Given the description of an element on the screen output the (x, y) to click on. 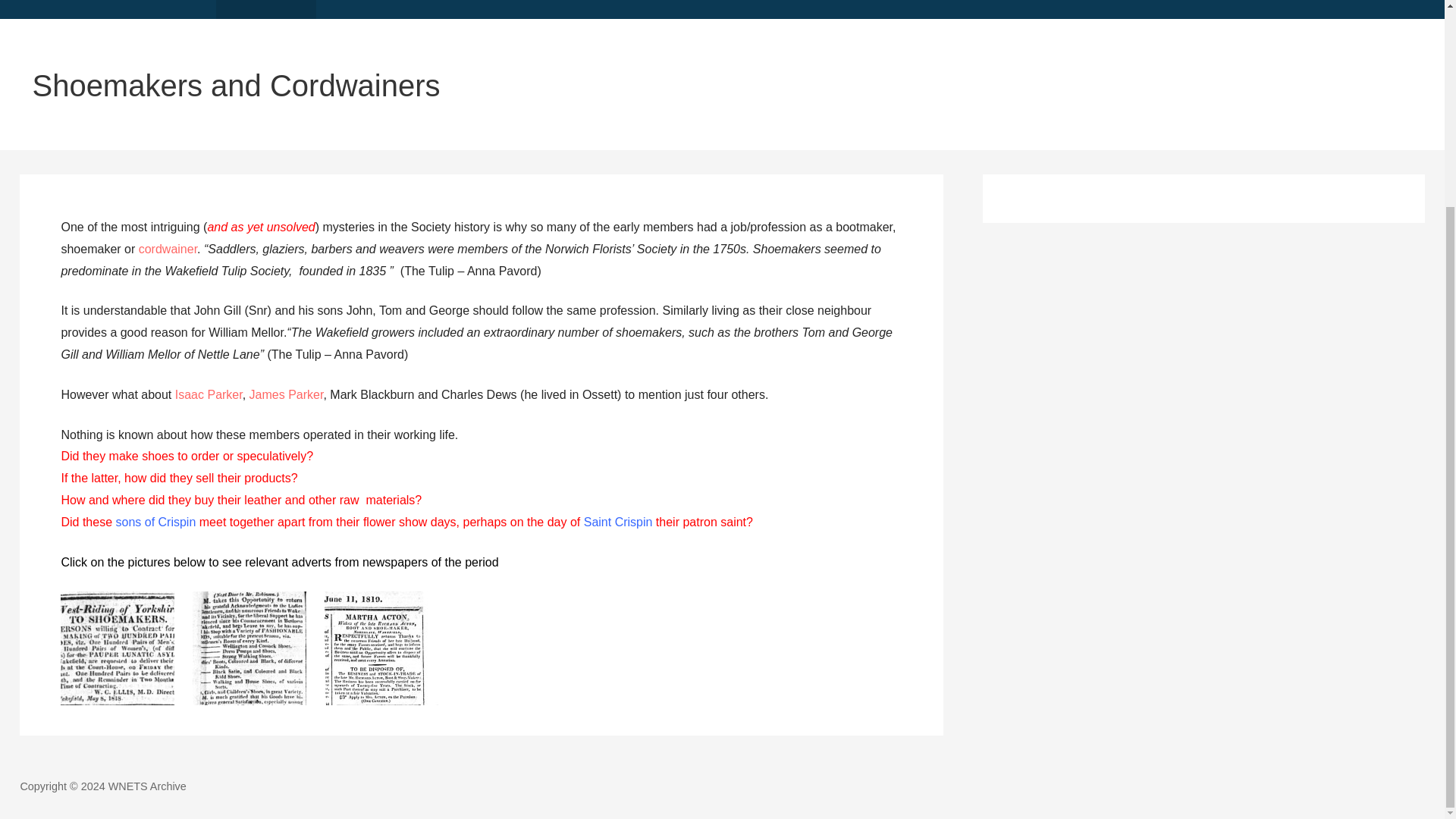
Isaac Parker (208, 394)
Voices (478, 9)
Saint Crispin (617, 521)
sons of Crispin (155, 521)
cordwainer (167, 248)
Context (89, 9)
Our archives (168, 9)
Other sources (265, 9)
Home (28, 9)
Stories (416, 9)
